Given the description of an element on the screen output the (x, y) to click on. 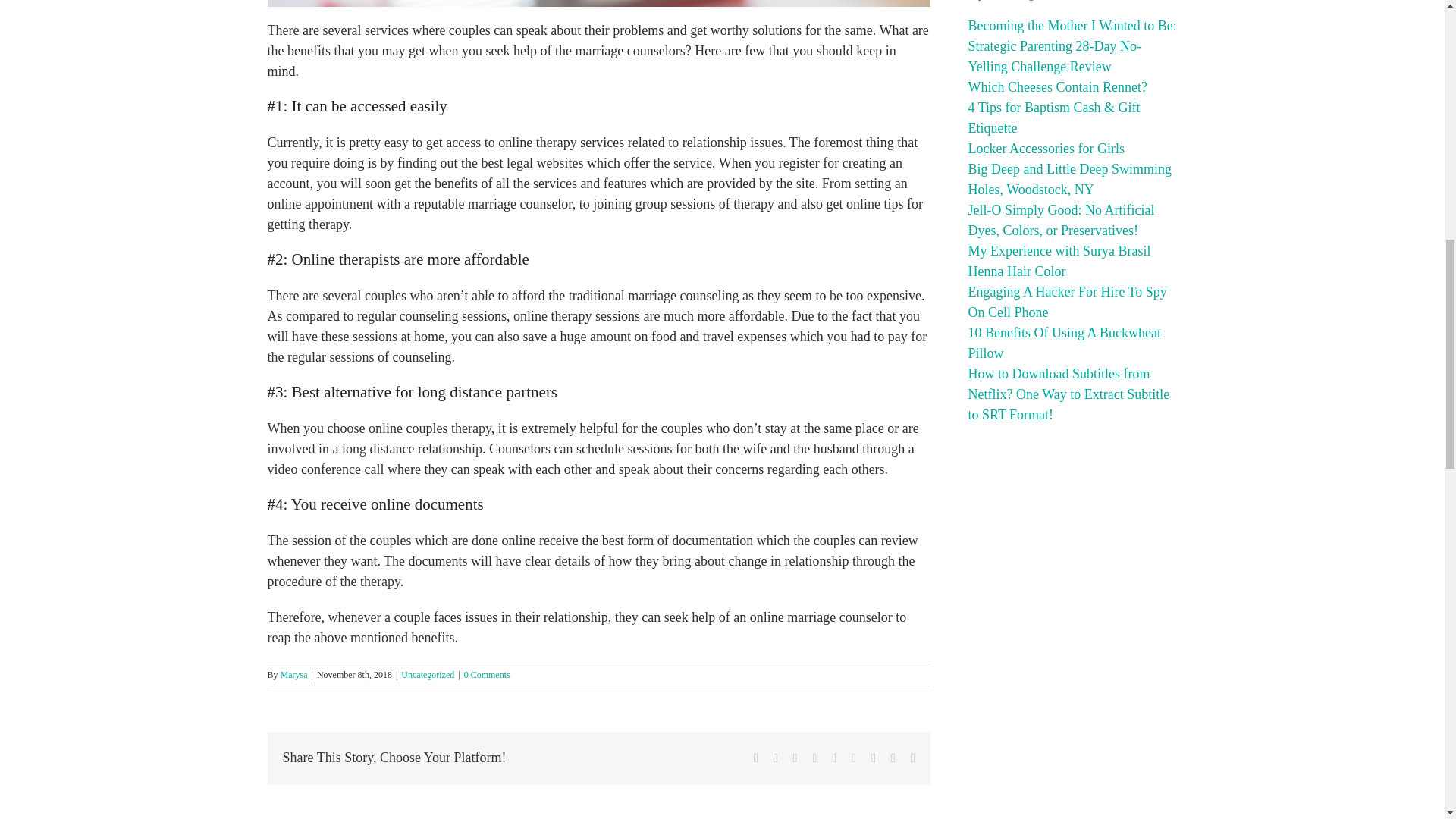
Facebook (756, 758)
Twitter (775, 758)
LinkedIn (795, 758)
Reddit (814, 758)
Posts by Marysa (294, 674)
